Given the description of an element on the screen output the (x, y) to click on. 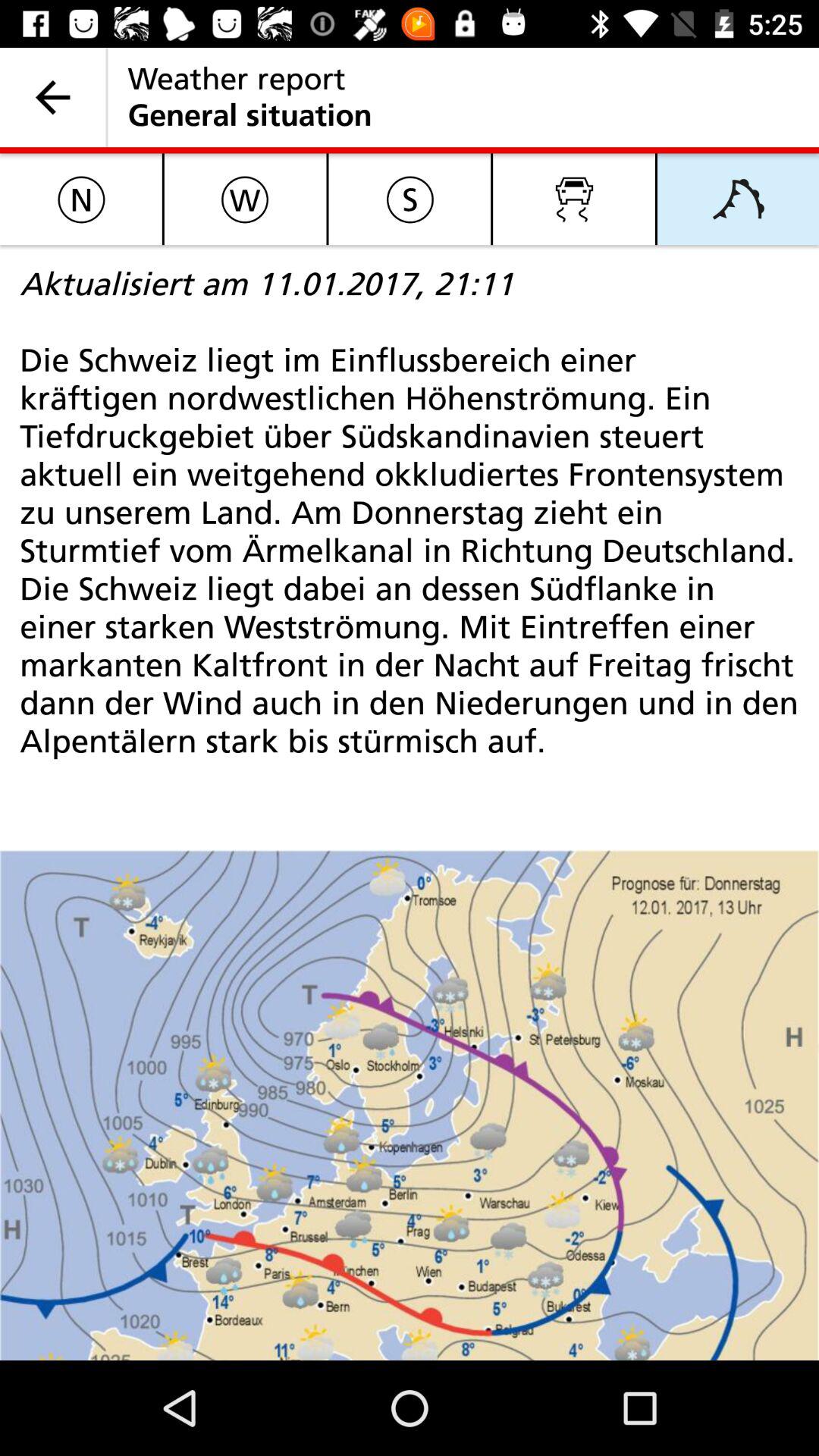
click item above the aktualisiert am 11 item (245, 199)
